Given the description of an element on the screen output the (x, y) to click on. 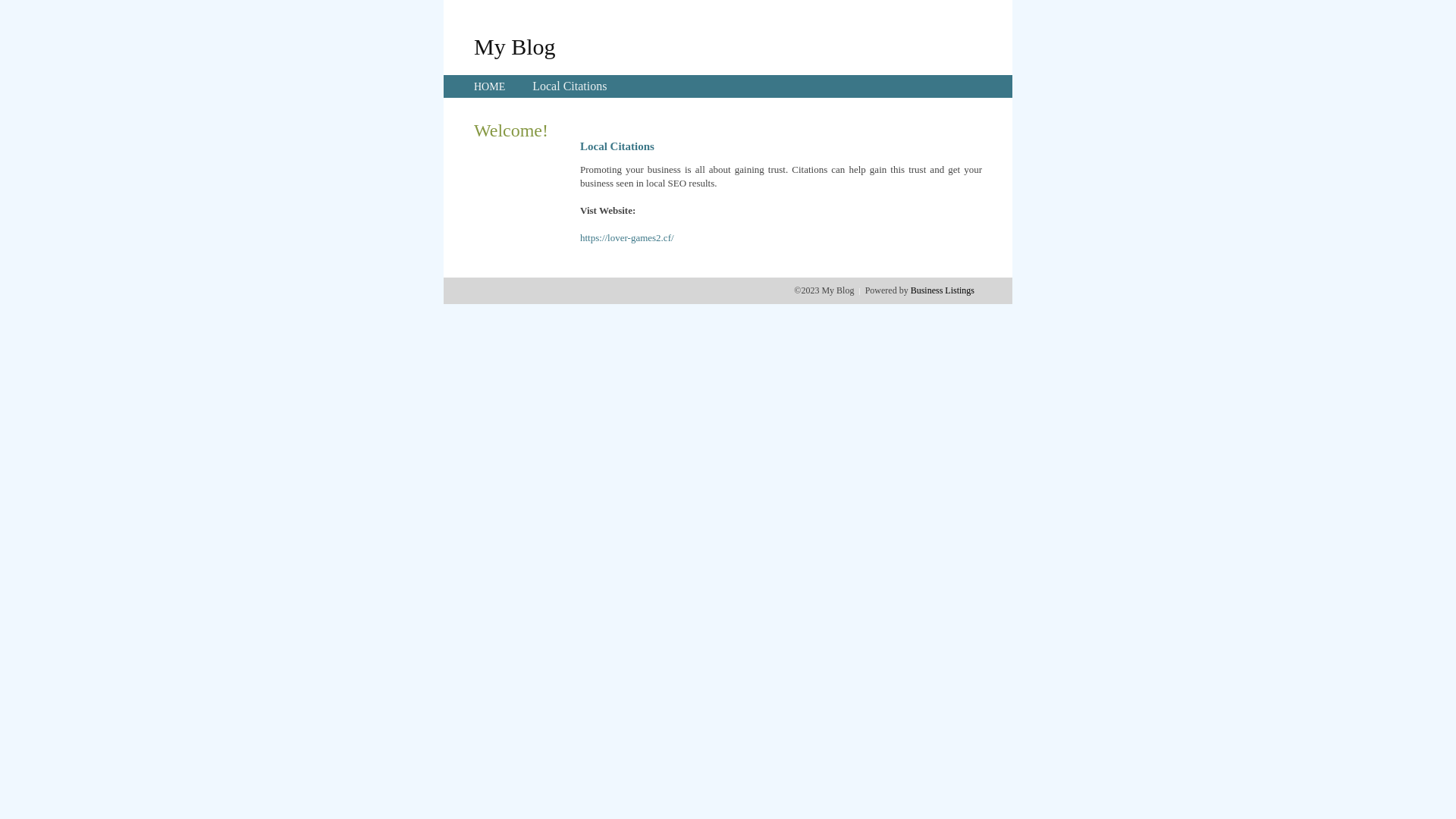
My Blog Element type: text (514, 46)
https://lover-games2.cf/ Element type: text (627, 237)
Local Citations Element type: text (569, 85)
Business Listings Element type: text (942, 290)
HOME Element type: text (489, 86)
